Given the description of an element on the screen output the (x, y) to click on. 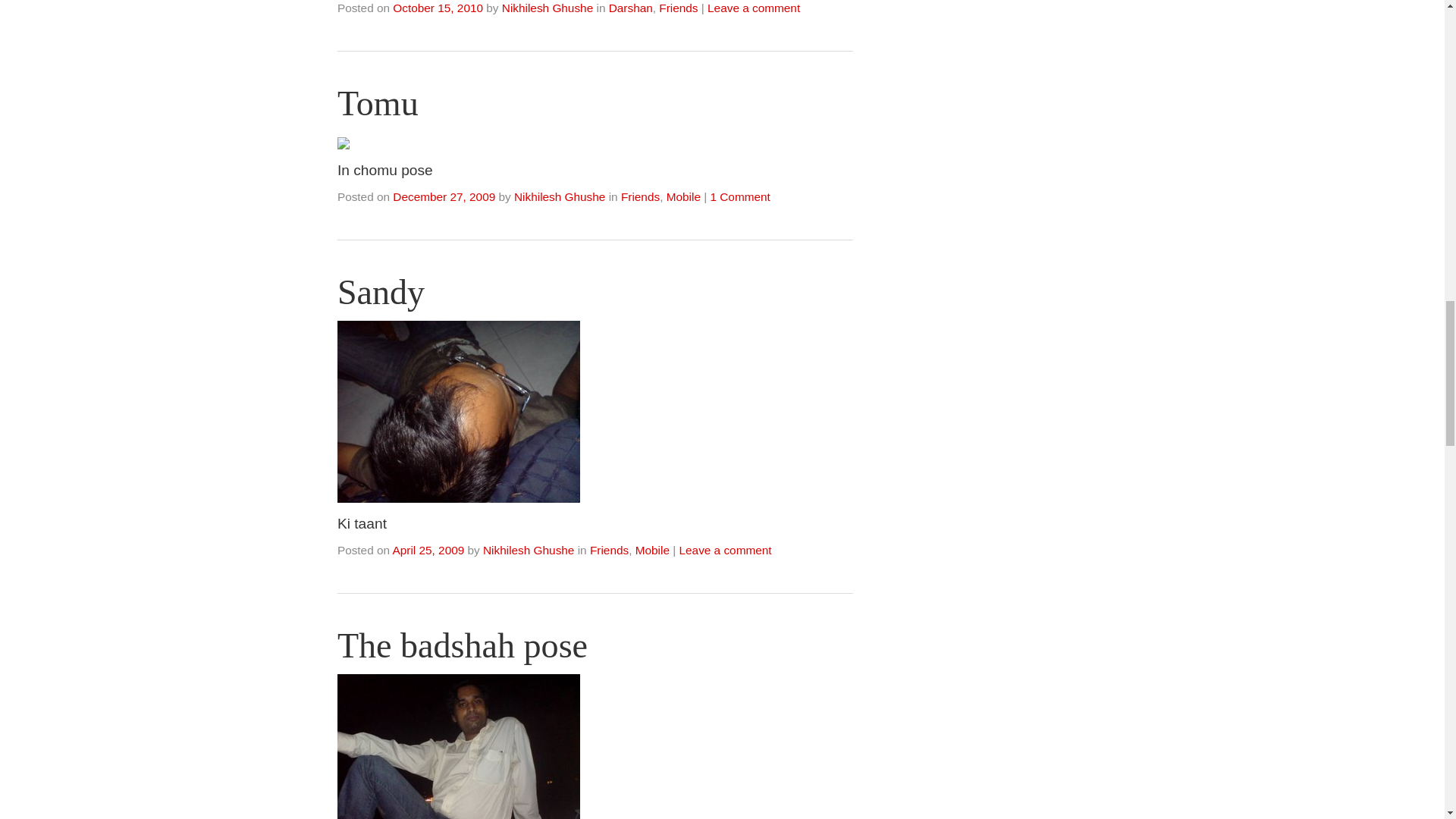
Mobile (683, 196)
Permalink to Tomu (378, 103)
8:37 pm (438, 7)
Tomu (378, 103)
Friends (640, 196)
Sandy (381, 292)
Nikhilesh Ghushe (528, 549)
View all posts by Nikhilesh Ghushe (559, 196)
Leave a comment (753, 7)
View all posts by Nikhilesh Ghushe (547, 7)
Nikhilesh Ghushe (547, 7)
December 27, 2009 (444, 196)
April 25, 2009 (427, 549)
Friends (678, 7)
Leave a comment (725, 549)
